Given the description of an element on the screen output the (x, y) to click on. 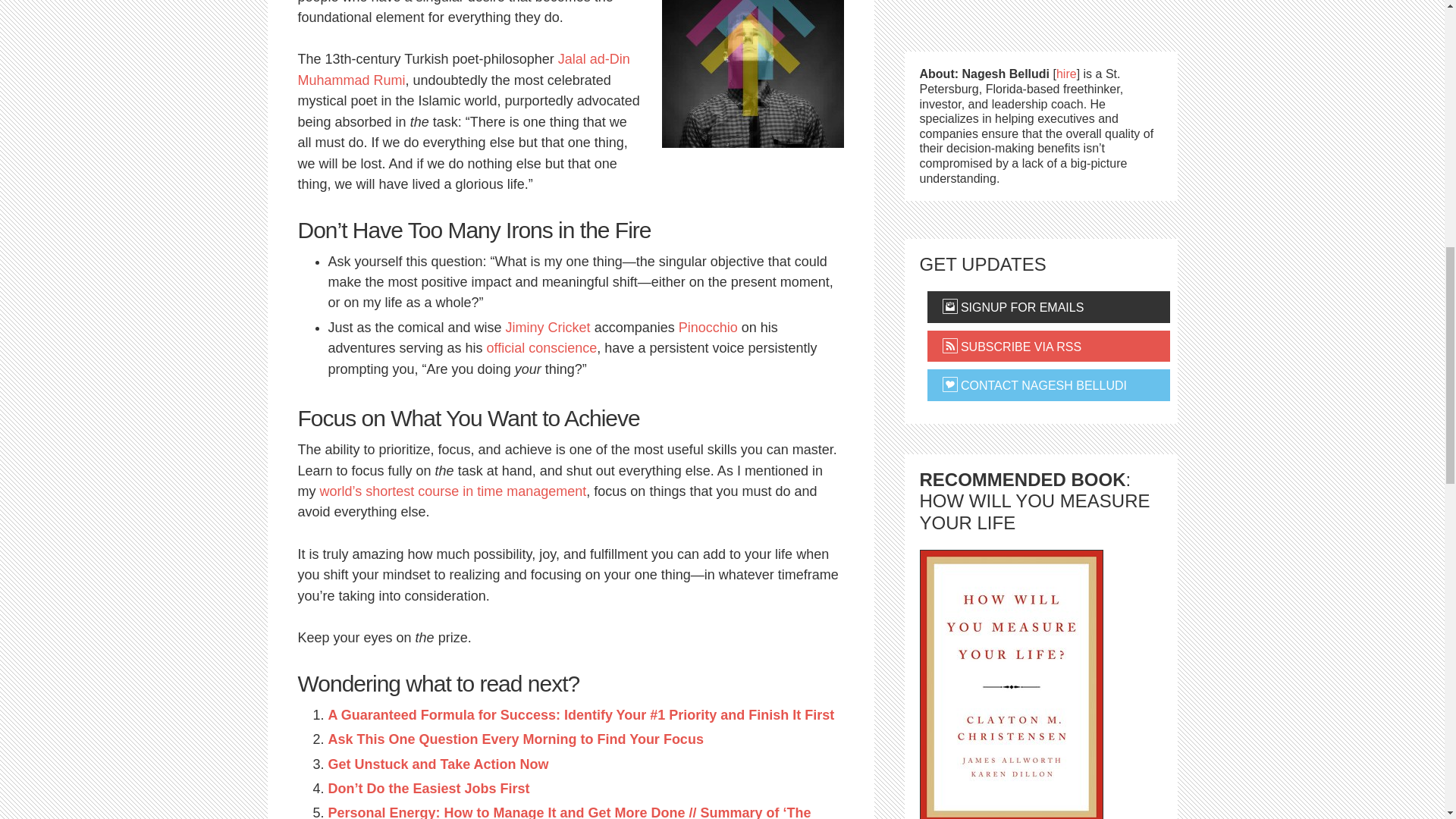
Get Unstuck and Take Action Now (437, 764)
Ask This One Question Every Morning to Find Your Focus (515, 739)
Pinocchio (708, 327)
Focus on What You Want to Achieve (752, 74)
Jiminy Cricket (548, 327)
Ask This One Question Every Morning to Find Your Focus (515, 739)
Jalal ad-Din Muhammad Rumi (462, 68)
official conscience (541, 347)
